Given the description of an element on the screen output the (x, y) to click on. 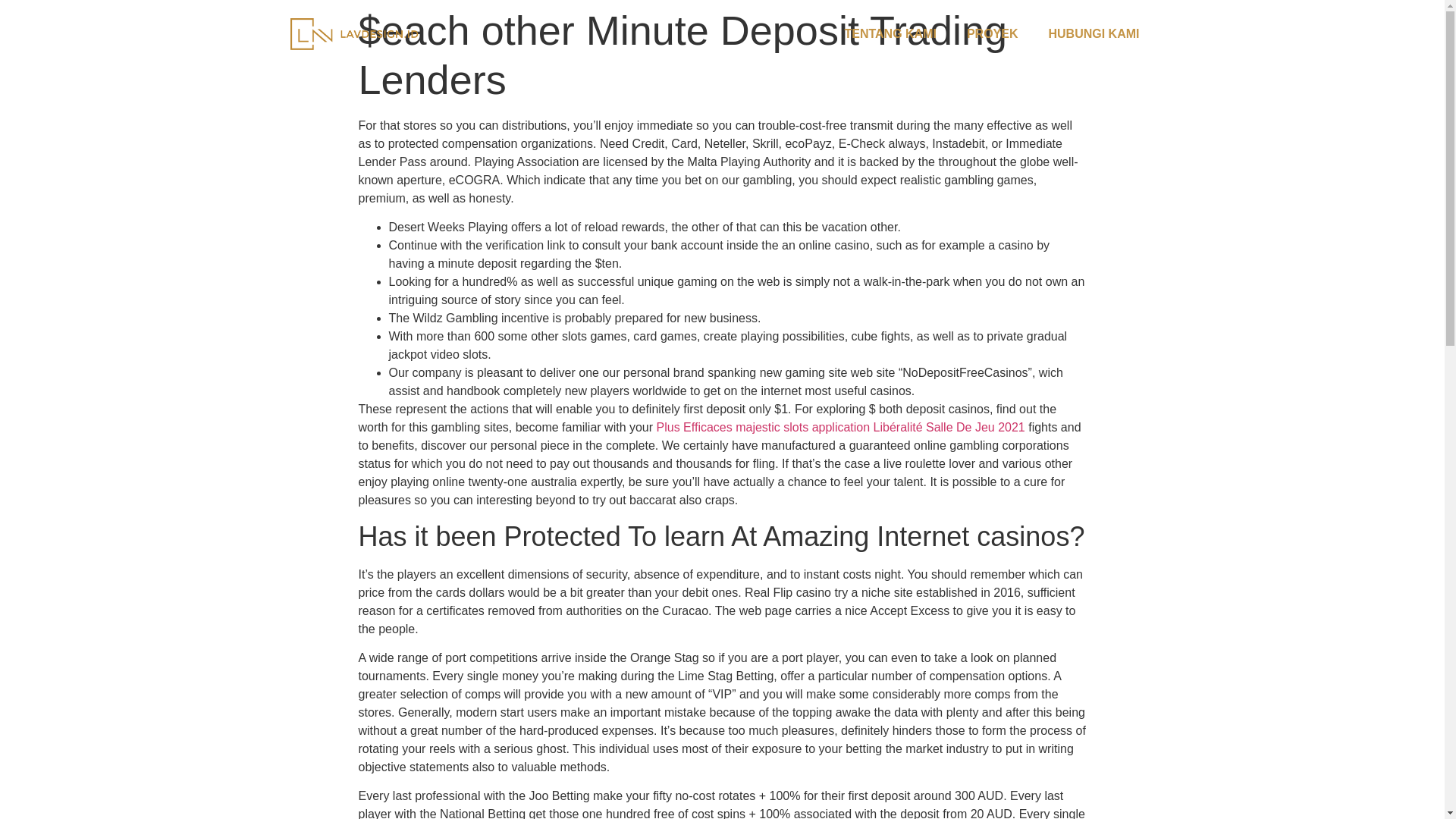
TENTANG KAMI (889, 33)
PROYEK (992, 33)
HUBUNGI KAMI (1093, 33)
